Given the description of an element on the screen output the (x, y) to click on. 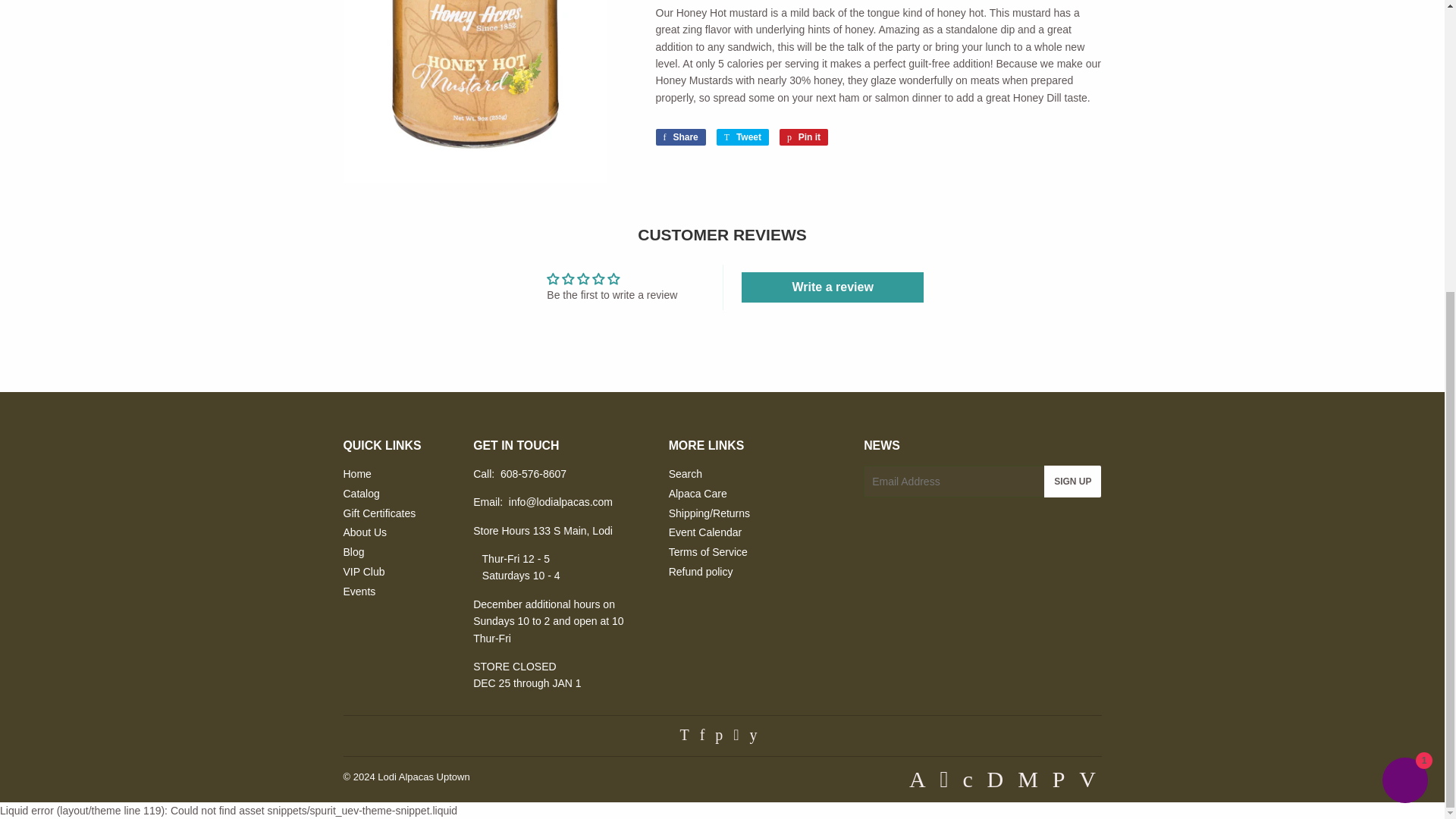
Share on Facebook (679, 136)
Write a review (803, 136)
Pin on Pinterest (679, 136)
Tweet on Twitter (742, 136)
